Given the description of an element on the screen output the (x, y) to click on. 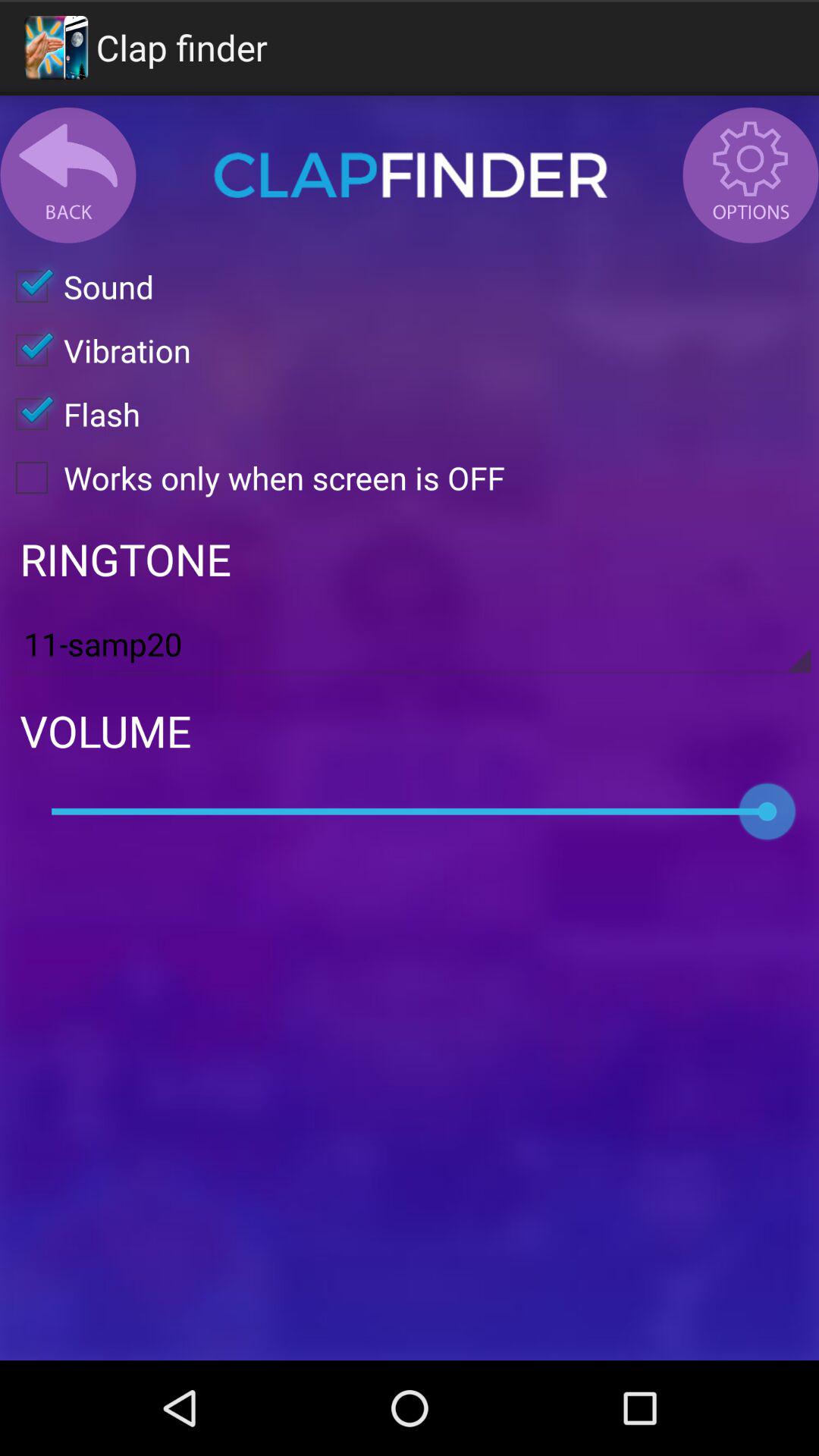
turn on the works only when checkbox (252, 477)
